Given the description of an element on the screen output the (x, y) to click on. 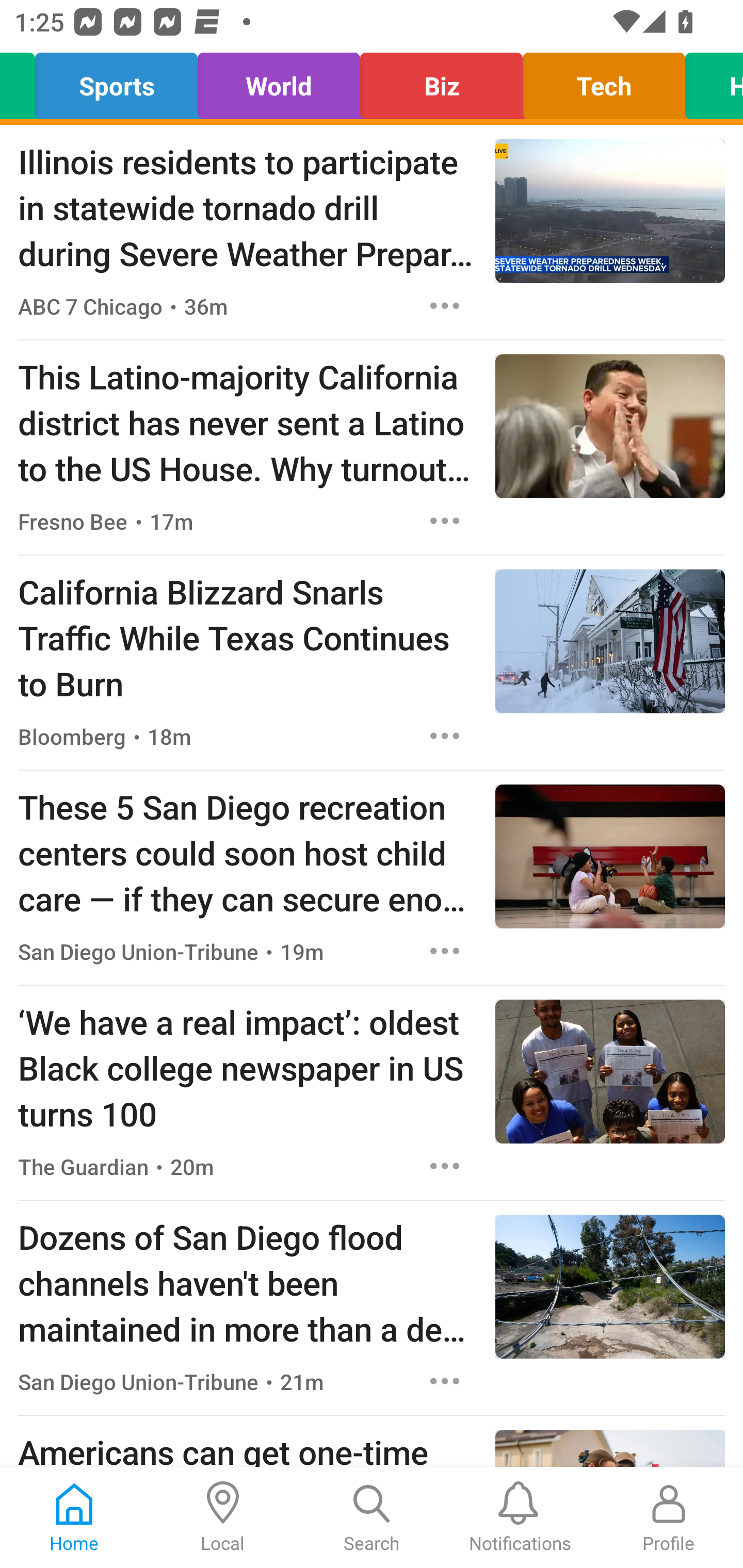
Sports (116, 81)
World (278, 81)
Biz (441, 81)
Tech (603, 81)
Options (444, 305)
Options (444, 520)
Options (444, 736)
Options (444, 950)
Options (444, 1166)
Options (444, 1381)
Local (222, 1517)
Search (371, 1517)
Notifications (519, 1517)
Profile (668, 1517)
